Given the description of an element on the screen output the (x, y) to click on. 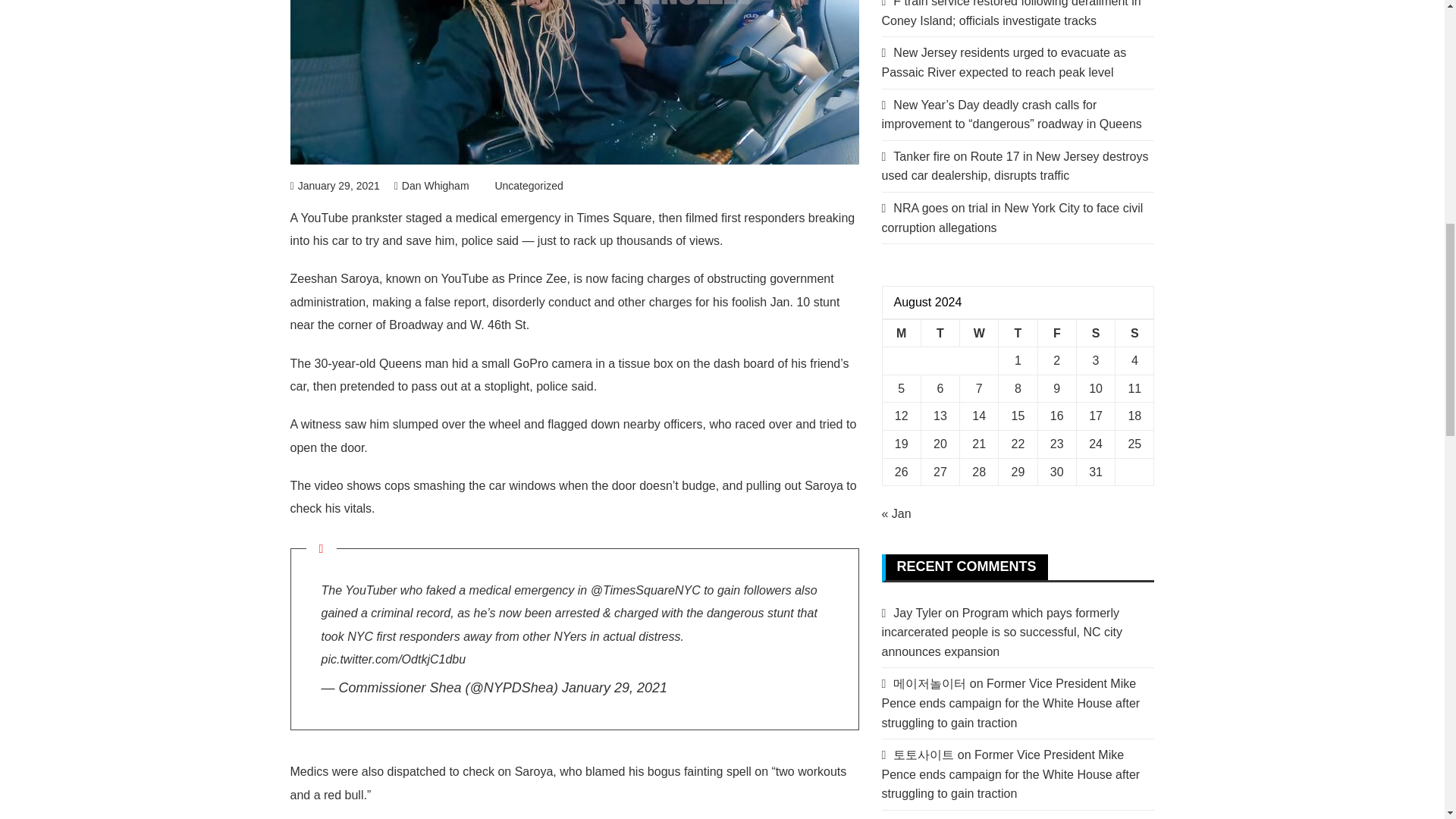
Monday (901, 333)
January 29, 2021 (333, 185)
Wednesday (978, 333)
Tuesday (939, 333)
January 29, 2021 (614, 687)
Sunday (1134, 333)
Saturday (1095, 333)
Friday (1055, 333)
